Given the description of an element on the screen output the (x, y) to click on. 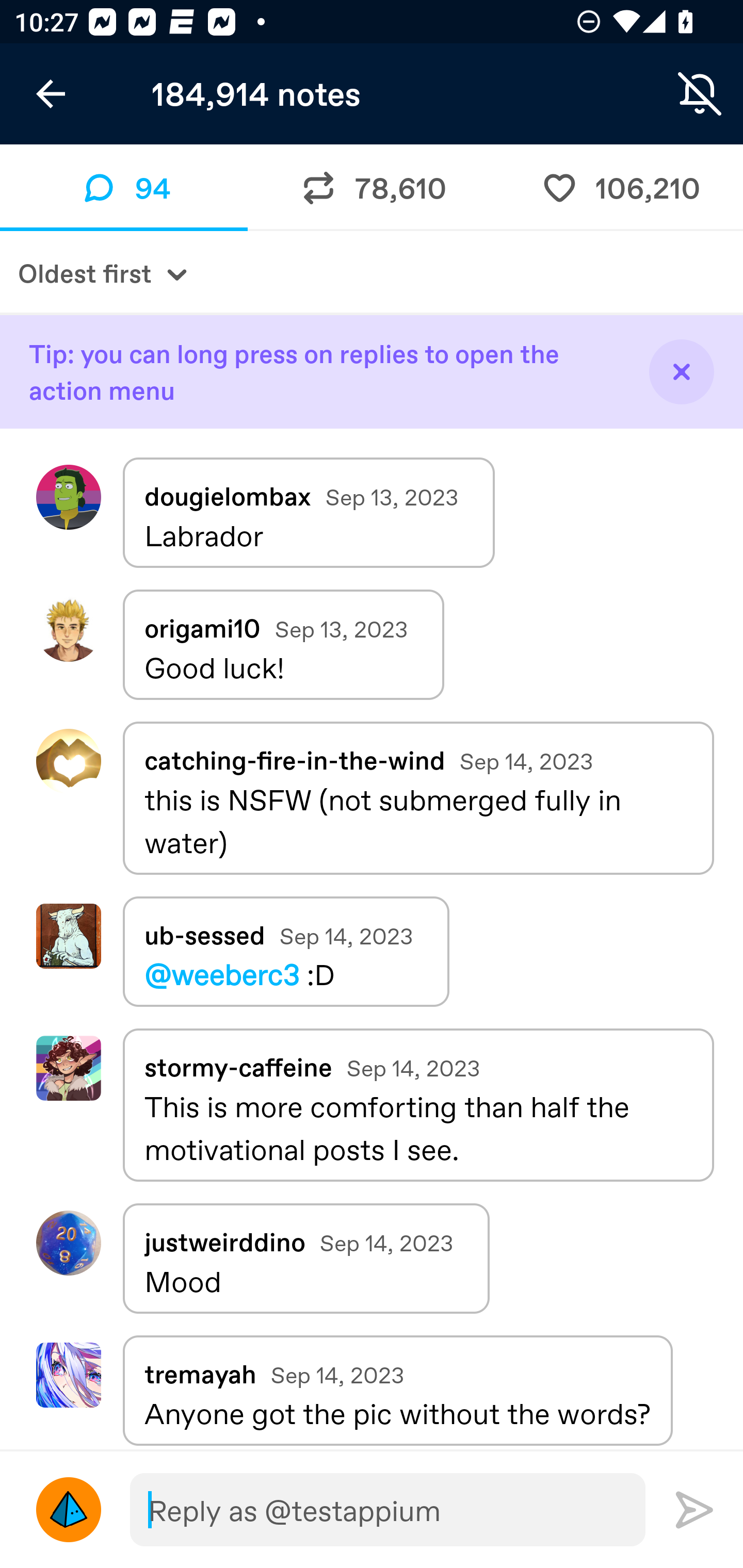
Navigate up (50, 93)
conversational notifications (699, 93)
Reblogs 78,610 (371, 187)
Likes 106,210 (619, 187)
Oldest first (371, 272)
Dismiss (681, 371)
dougielombax (68, 496)
dougielombax (227, 495)
origami10 (68, 629)
origami10 (202, 627)
catching-fire-in-the-wind (68, 761)
catching-fire-in-the-wind (294, 759)
ub-sessed (68, 936)
ub-sessed (204, 934)
stormy-caffeine (68, 1068)
stormy-caffeine (238, 1066)
justweirddino (68, 1242)
justweirddino (224, 1241)
tremayah (68, 1375)
tremayah (200, 1373)
Reply (694, 1509)
Reply as testappium (68, 1509)
Reply as @testappium (387, 1509)
